Given the description of an element on the screen output the (x, y) to click on. 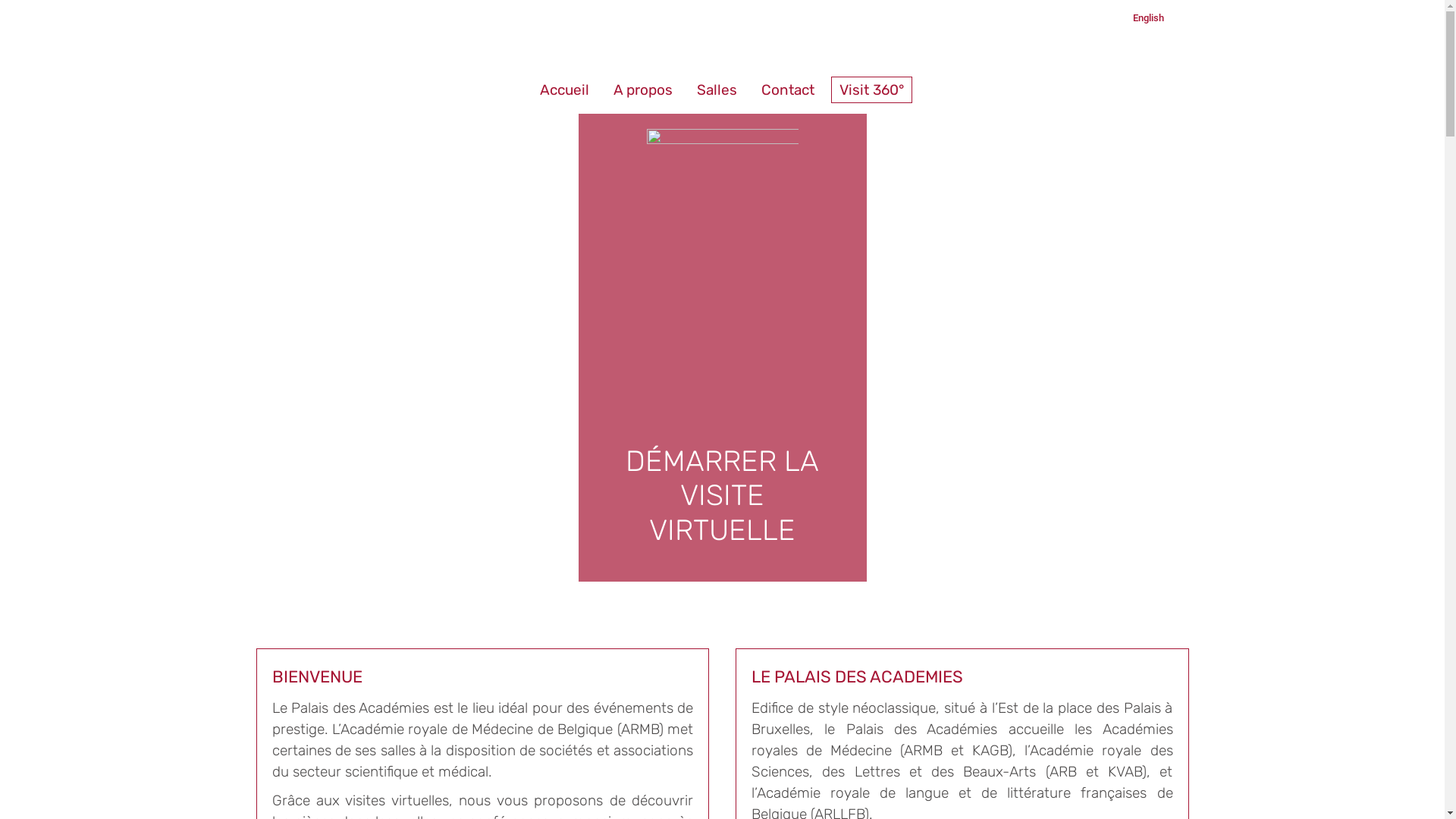
Accueil Element type: text (564, 89)
Salles Element type: text (716, 89)
Contact Element type: text (787, 89)
English Element type: text (1138, 17)
A propos Element type: text (642, 89)
